Given the description of an element on the screen output the (x, y) to click on. 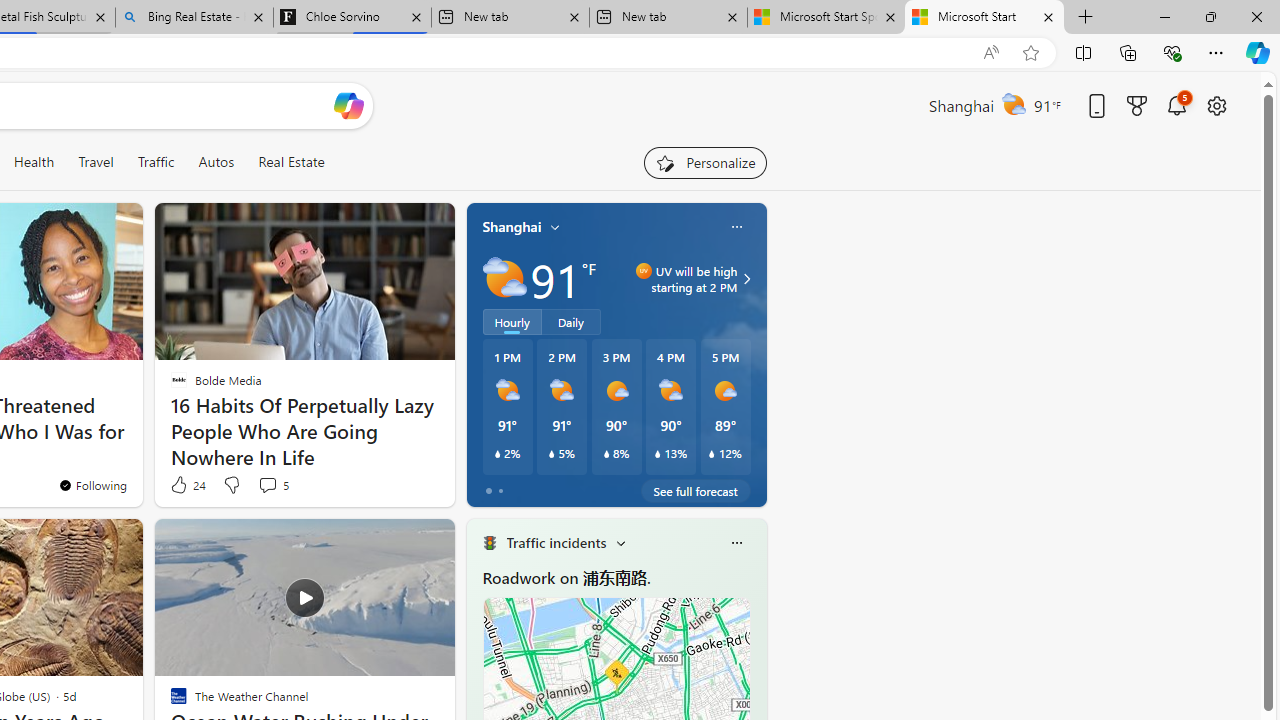
Class: weather-current-precipitation-glyph (712, 453)
Hourly (511, 321)
Traffic Title Traffic Light (489, 542)
Hide this story (393, 542)
UV will be high starting at 2 PM (744, 278)
Daily (571, 321)
Chloe Sorvino (352, 17)
next (756, 670)
